Given the description of an element on the screen output the (x, y) to click on. 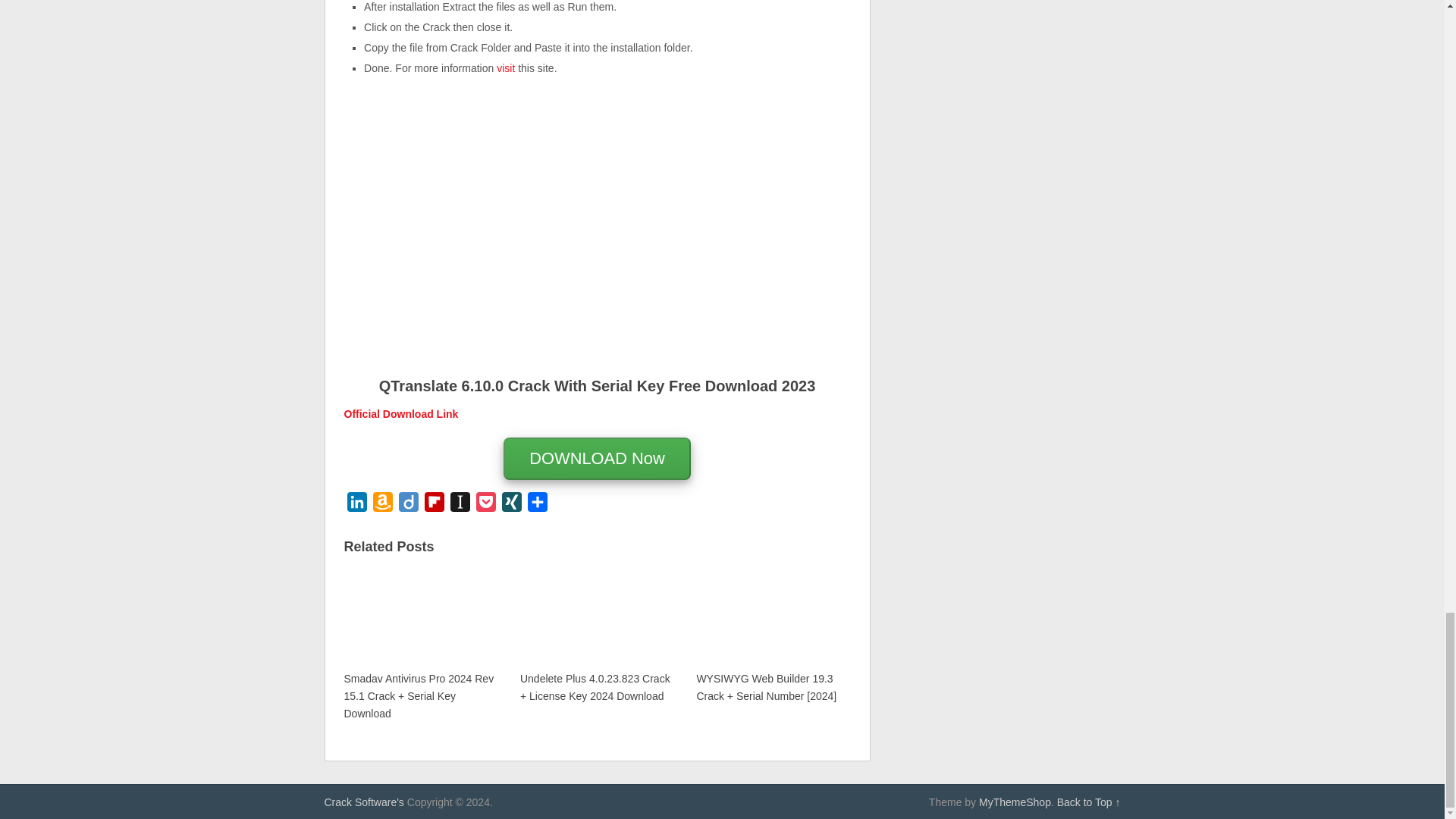
XING (511, 504)
Flipboard (434, 504)
Instapaper (459, 504)
LinkedIn (356, 504)
DOWNLOAD Now (596, 460)
Official Download Link (400, 413)
MyThemeShop (1014, 802)
LinkedIn (356, 504)
Amazon Wish List (382, 504)
Amazon Wish List (382, 504)
Diigo (409, 504)
XING (511, 504)
Instapaper (459, 504)
Crack Software's (364, 802)
Diigo (409, 504)
